Given the description of an element on the screen output the (x, y) to click on. 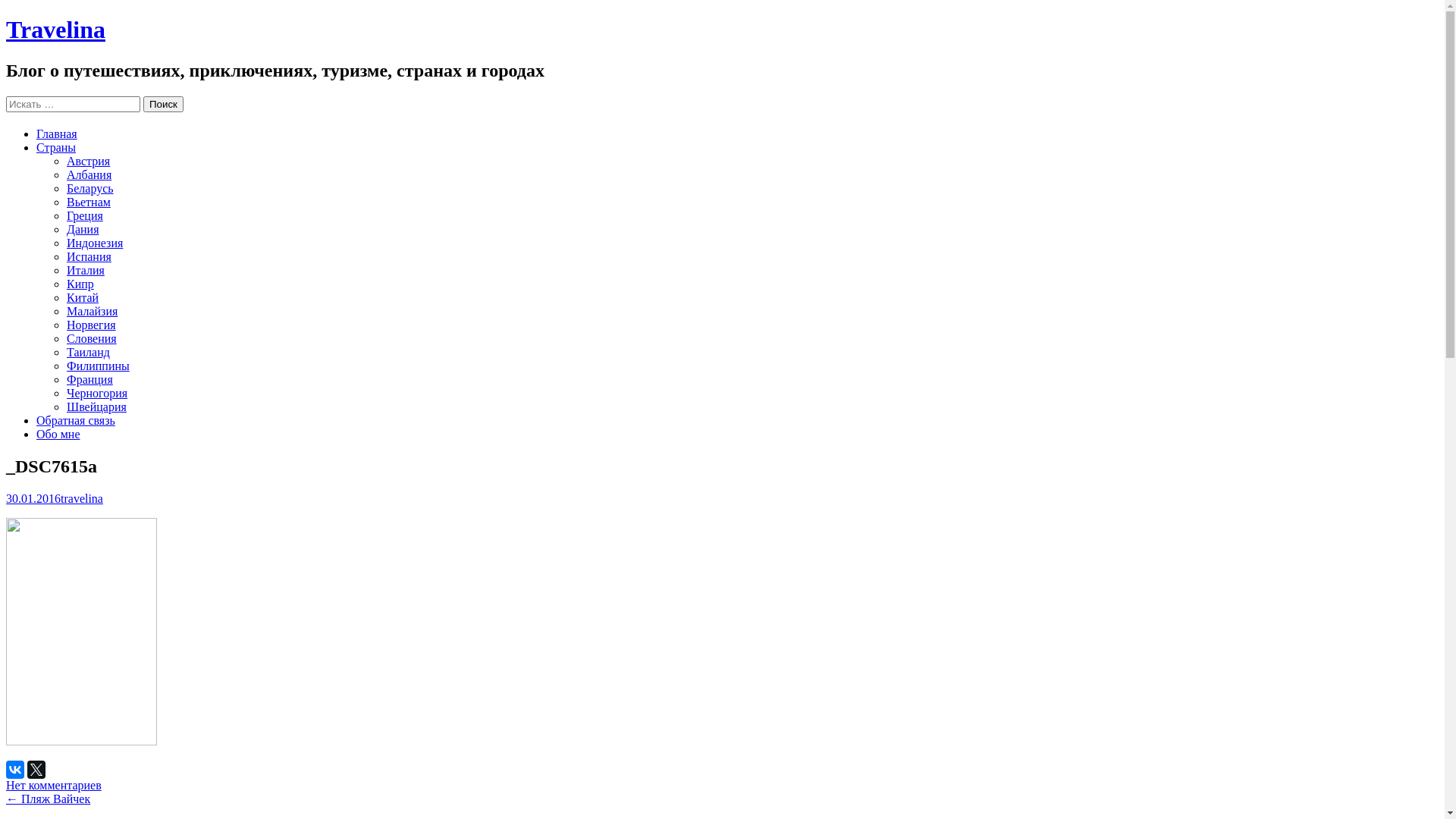
30.01.2016 Element type: text (33, 497)
Travelina Element type: text (55, 29)
Twitter Element type: hover (36, 768)
travelina Element type: text (81, 497)
